Given the description of an element on the screen output the (x, y) to click on. 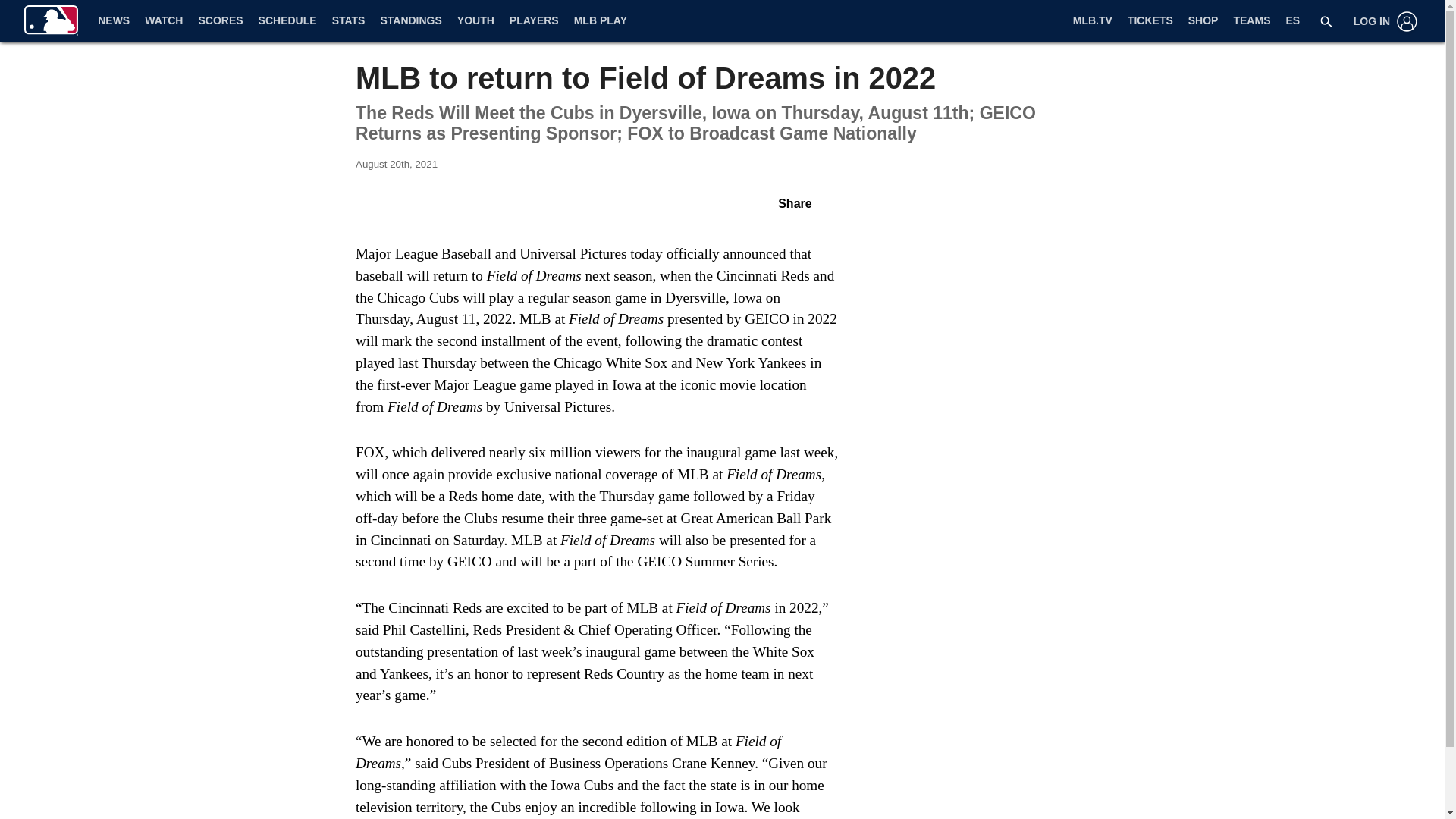
NEWS (113, 21)
STANDINGS (410, 21)
STATS (348, 21)
SCORES (220, 21)
YOUTH (475, 21)
WATCH (163, 21)
SCHEDULE (287, 21)
search-256719 (1326, 21)
